Given the description of an element on the screen output the (x, y) to click on. 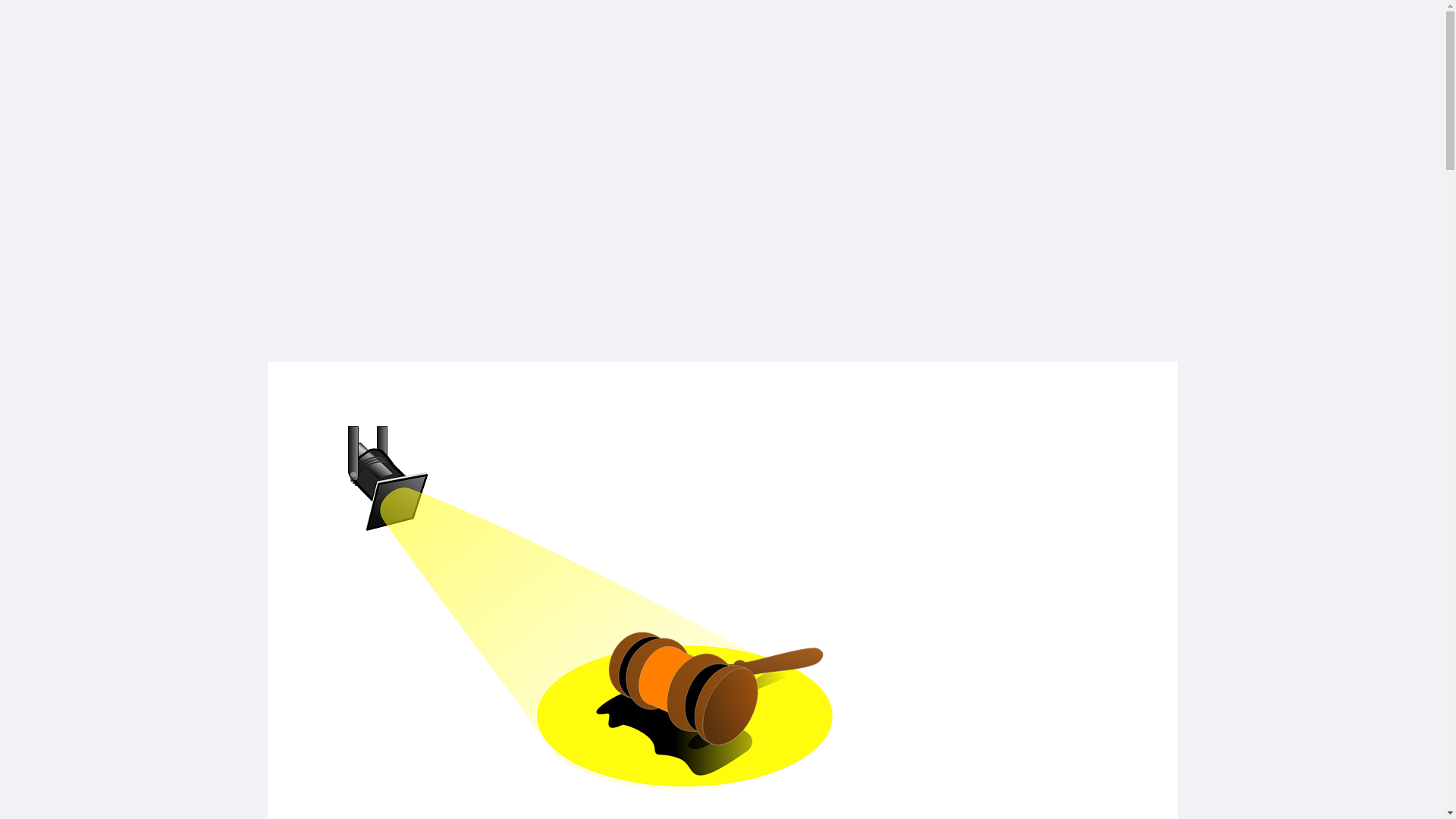
Advertisement (722, 236)
